Given the description of an element on the screen output the (x, y) to click on. 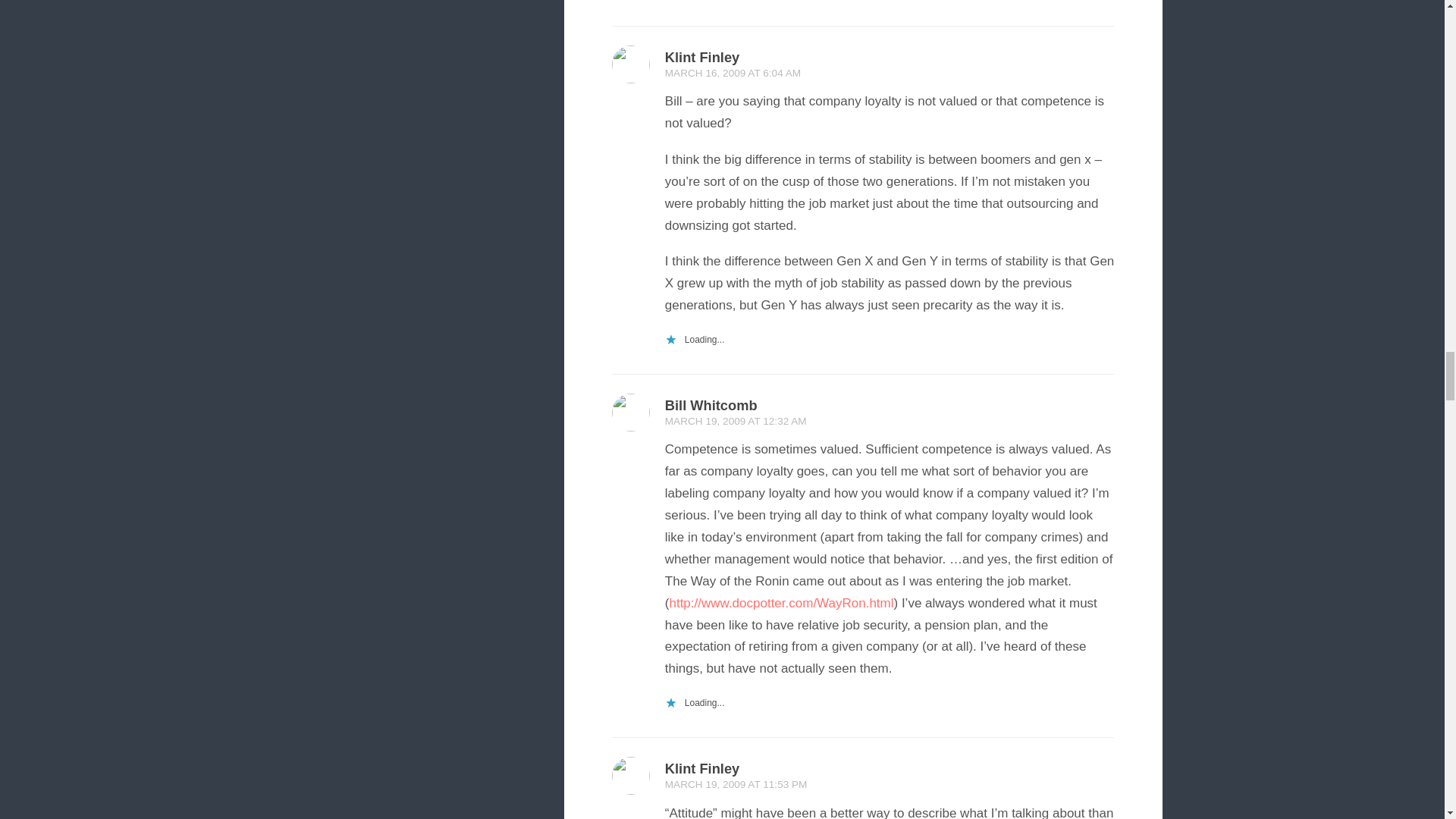
MARCH 16, 2009 AT 6:04 AM (732, 72)
MARCH 19, 2009 AT 12:32 AM (735, 420)
